Given the description of an element on the screen output the (x, y) to click on. 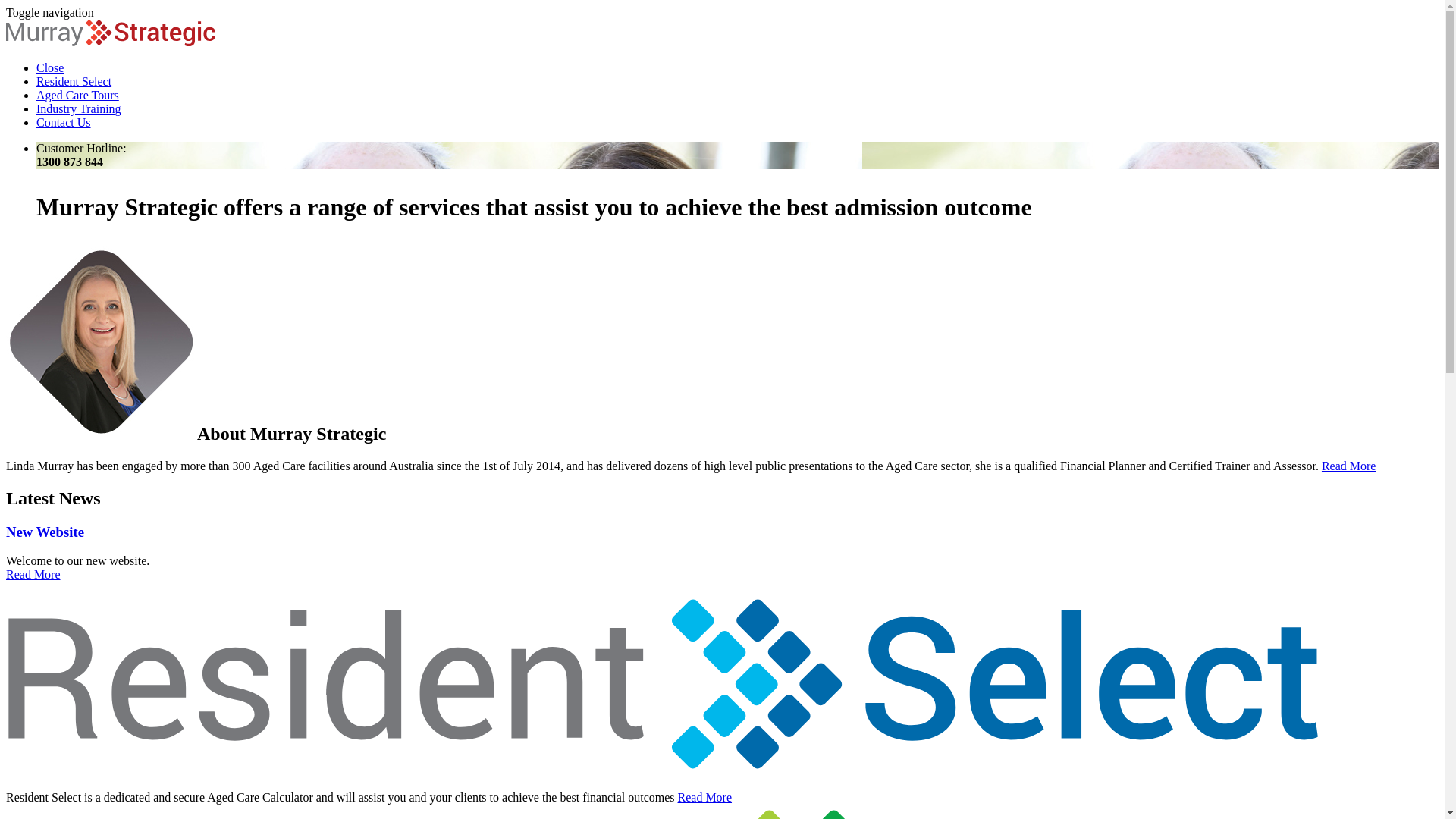
New Website Element type: text (722, 545)
Read More Element type: text (1348, 465)
Industry Training Element type: text (78, 108)
Aged Care Tours Element type: text (77, 94)
Close Element type: text (49, 67)
Toggle navigation Element type: text (50, 12)
Contact Us Element type: text (63, 122)
Read More Element type: text (704, 796)
Resident Select Element type: text (73, 81)
Read More Element type: text (33, 573)
